Given the description of an element on the screen output the (x, y) to click on. 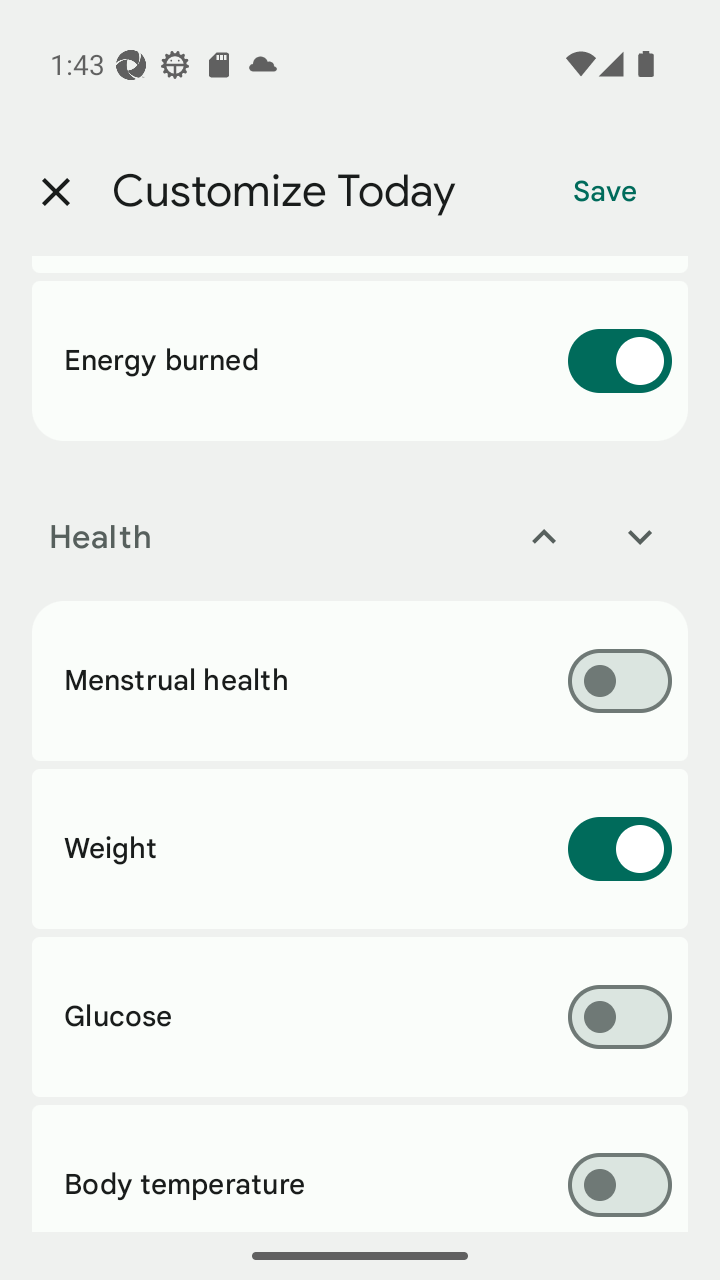
Close (55, 191)
Save (605, 191)
Energy burned (359, 361)
Move Health up (543, 536)
Move Health down (639, 536)
Menstrual health (359, 681)
Weight (359, 849)
Glucose (359, 1016)
Body temperature (359, 1167)
